Given the description of an element on the screen output the (x, y) to click on. 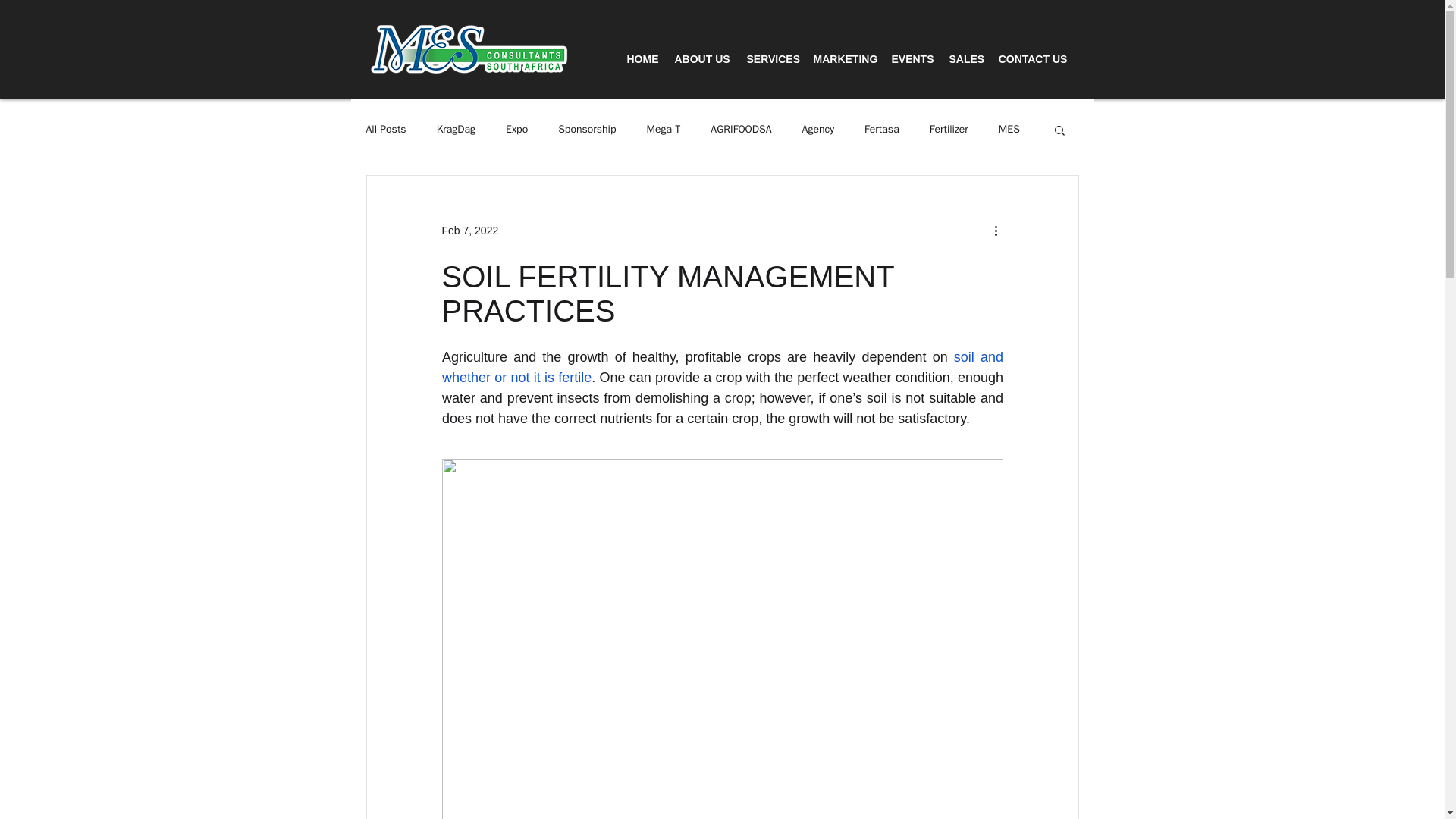
CONTACT US (1032, 59)
KragDag (456, 129)
Mega-T (663, 129)
All Posts (385, 129)
EVENTS (911, 59)
Fertasa (881, 129)
Feb 7, 2022 (469, 230)
MARKETING (844, 59)
AGRIFOODSA (740, 129)
SERVICES (771, 59)
